Given the description of an element on the screen output the (x, y) to click on. 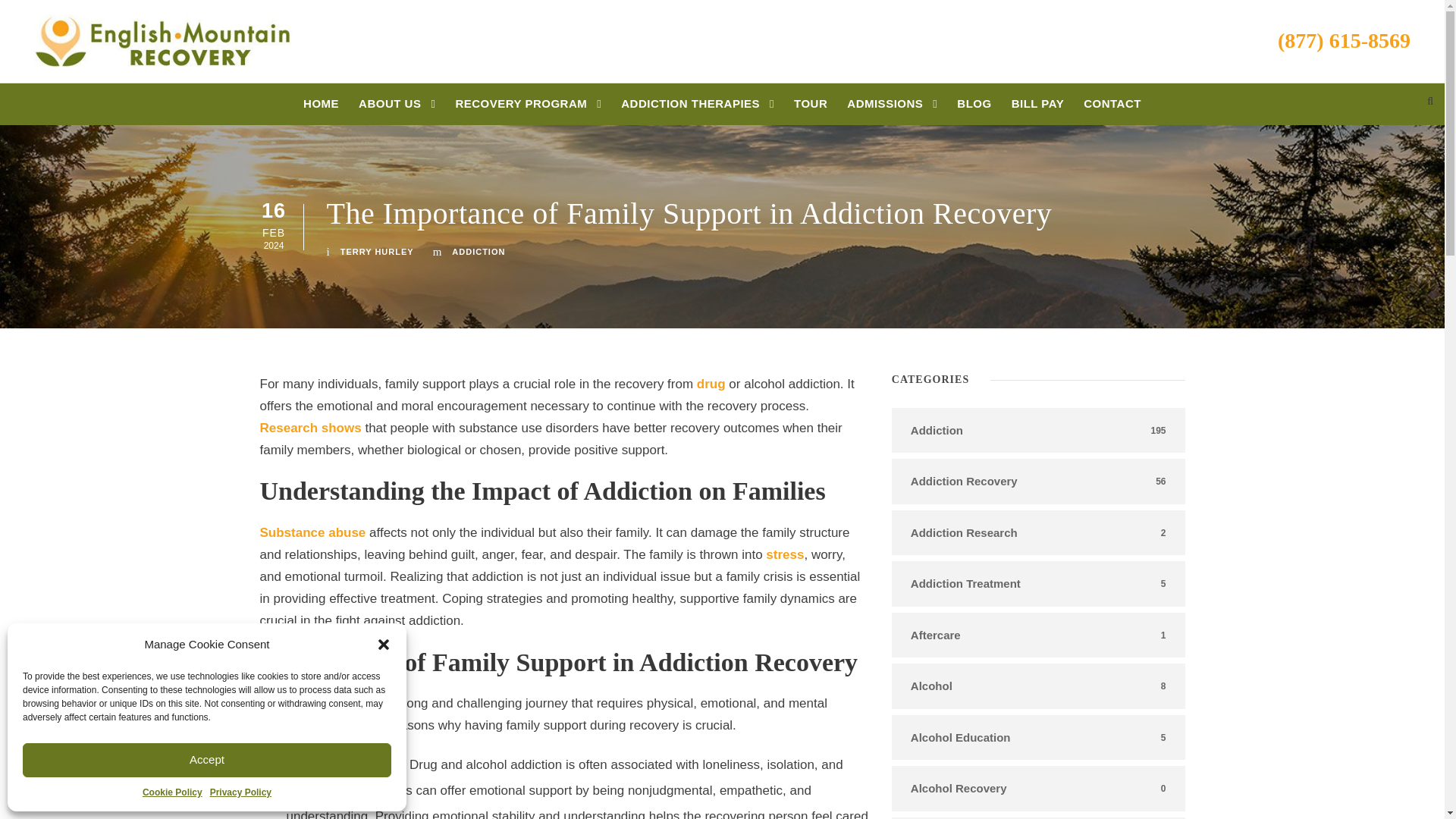
ABOUT US (396, 109)
Cookie Policy (172, 792)
HOME (320, 109)
Privacy Policy (239, 792)
ADDICTION THERAPIES (697, 109)
Accept (207, 759)
English Mountain Recovery (162, 40)
RECOVERY PROGRAM (527, 109)
Posts by Terry Hurley (376, 251)
